Given the description of an element on the screen output the (x, y) to click on. 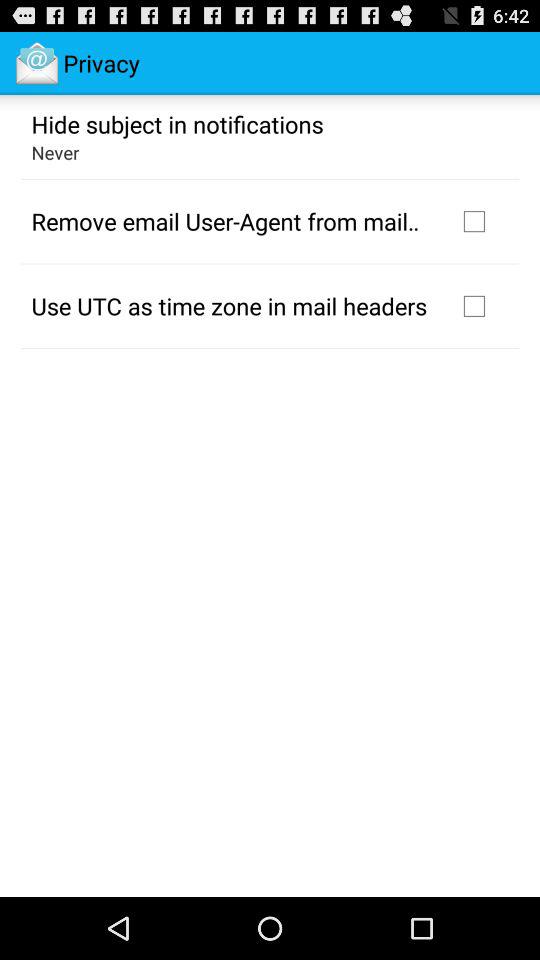
click never (55, 151)
